Given the description of an element on the screen output the (x, y) to click on. 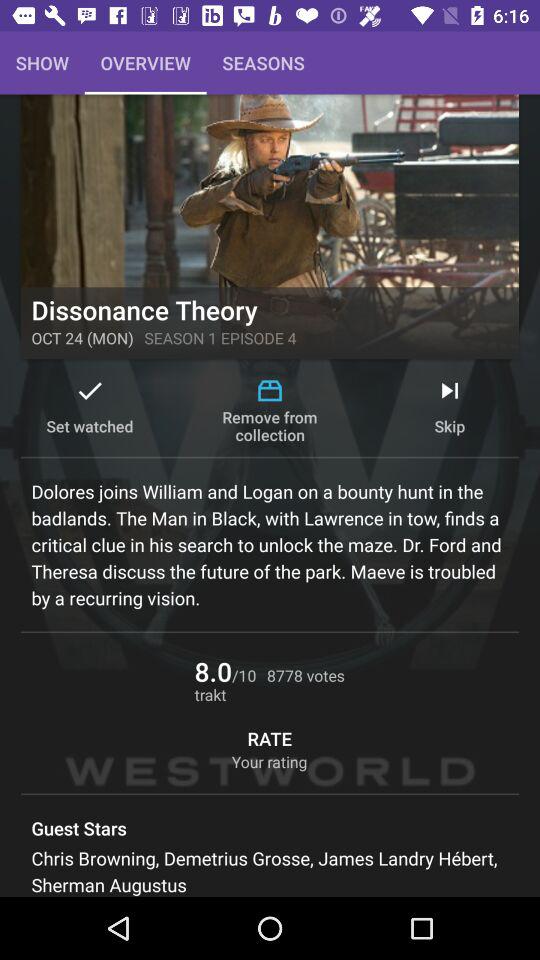
turn off the chris browning demetrius item (269, 871)
